Given the description of an element on the screen output the (x, y) to click on. 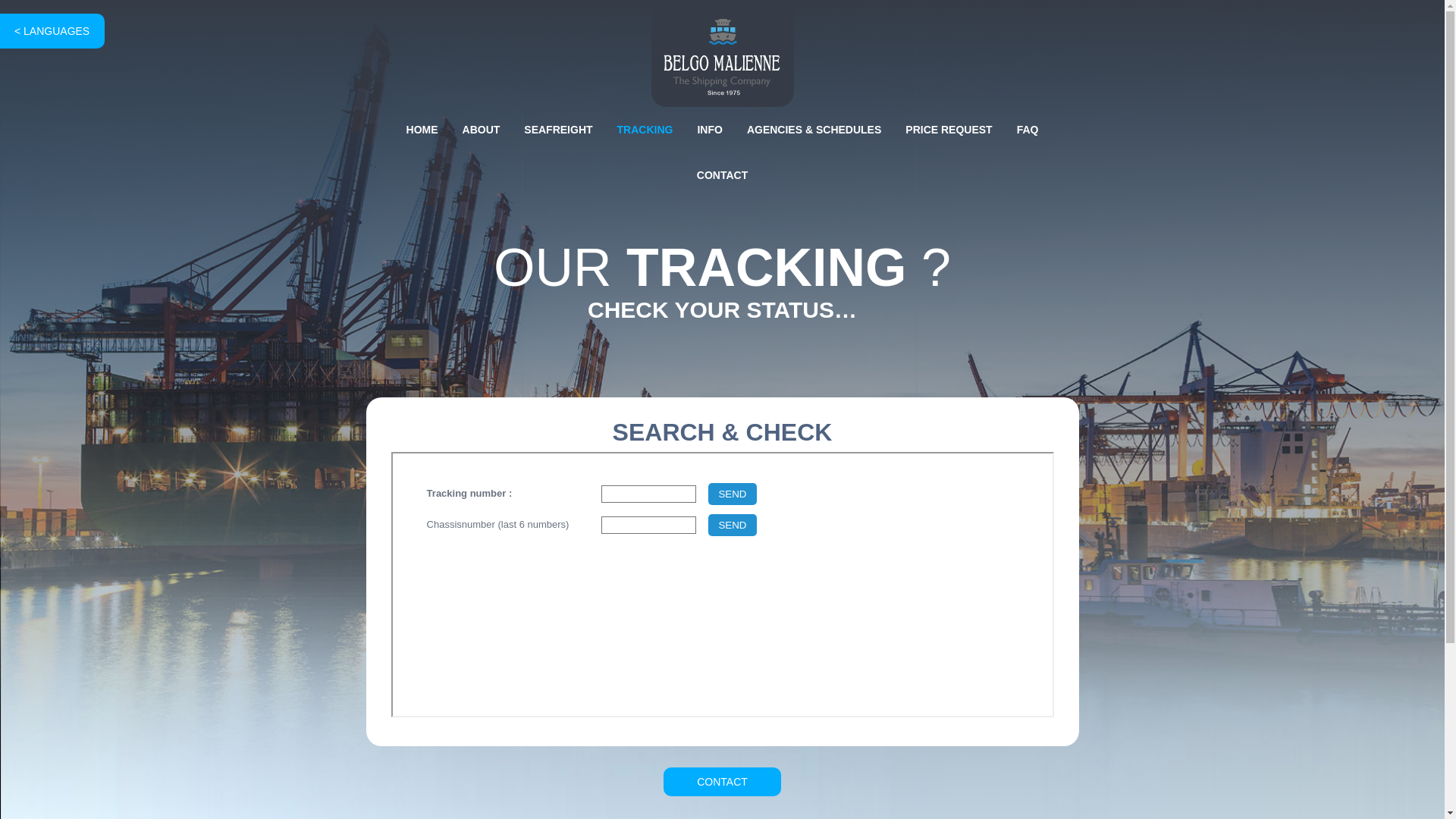
AGENCIES & SCHEDULES Element type: text (813, 129)
INFO Element type: text (709, 129)
TRACKING Element type: text (645, 129)
SEAFREIGHT Element type: text (557, 129)
HOME Element type: text (422, 129)
CONTACT Element type: text (721, 174)
FAQ Element type: text (1027, 129)
ABOUT Element type: text (481, 129)
PRICE REQUEST Element type: text (948, 129)
CONTACT Element type: text (722, 781)
